Given the description of an element on the screen output the (x, y) to click on. 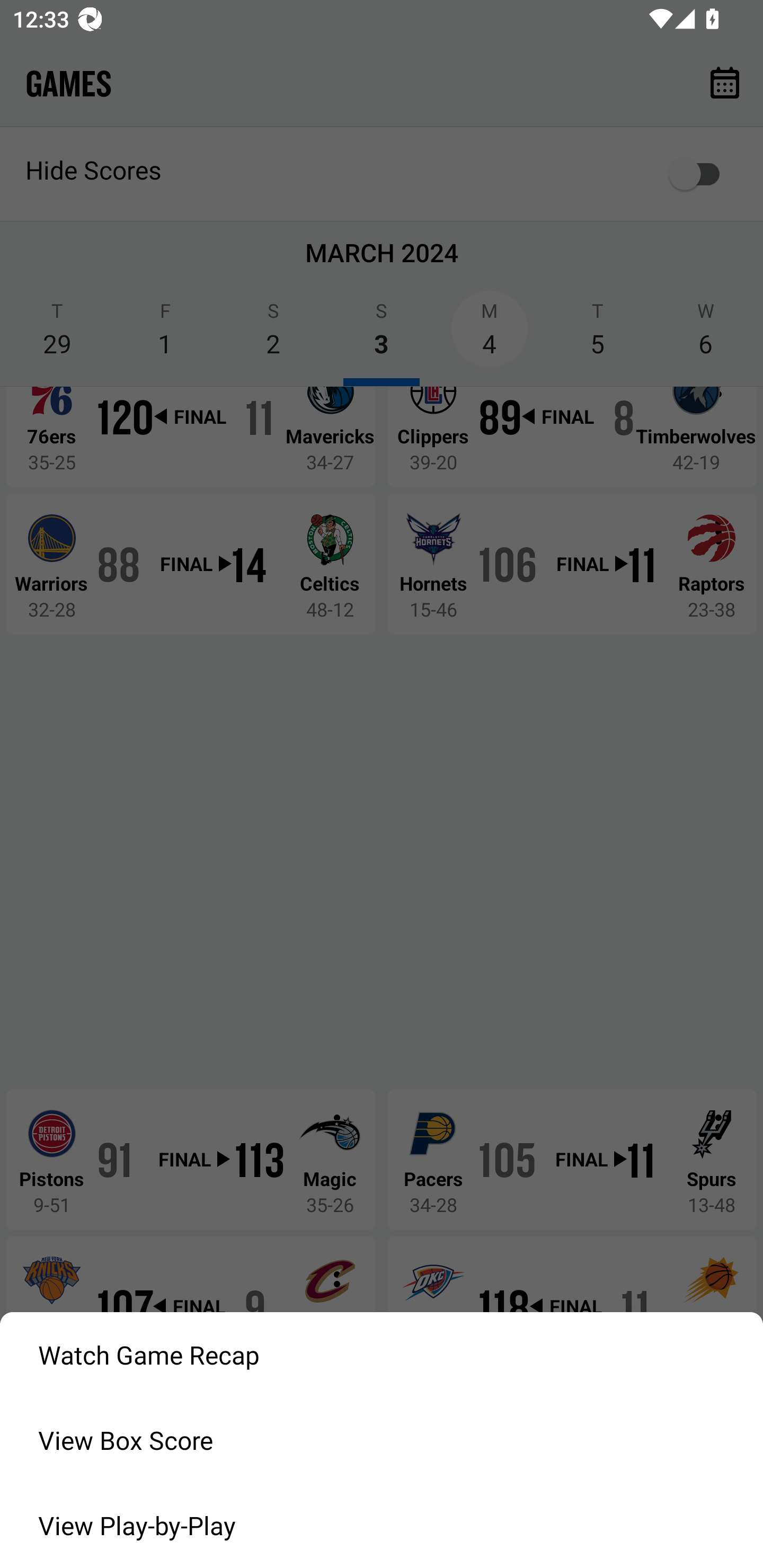
Watch Game Recap (381, 1354)
View Box Score (381, 1440)
View Play-by-Play (381, 1525)
